Given the description of an element on the screen output the (x, y) to click on. 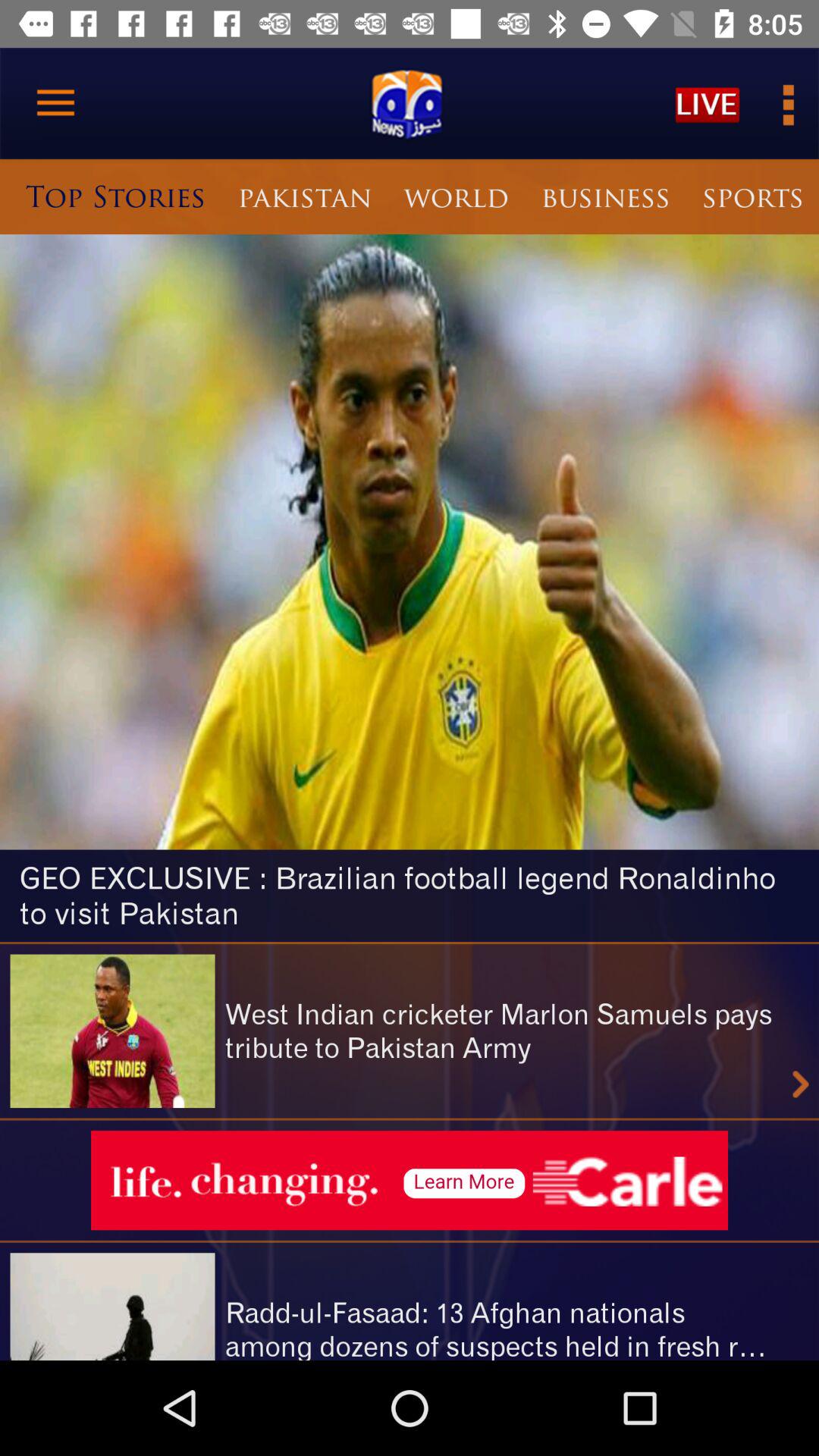
click to more information (787, 103)
